Given the description of an element on the screen output the (x, y) to click on. 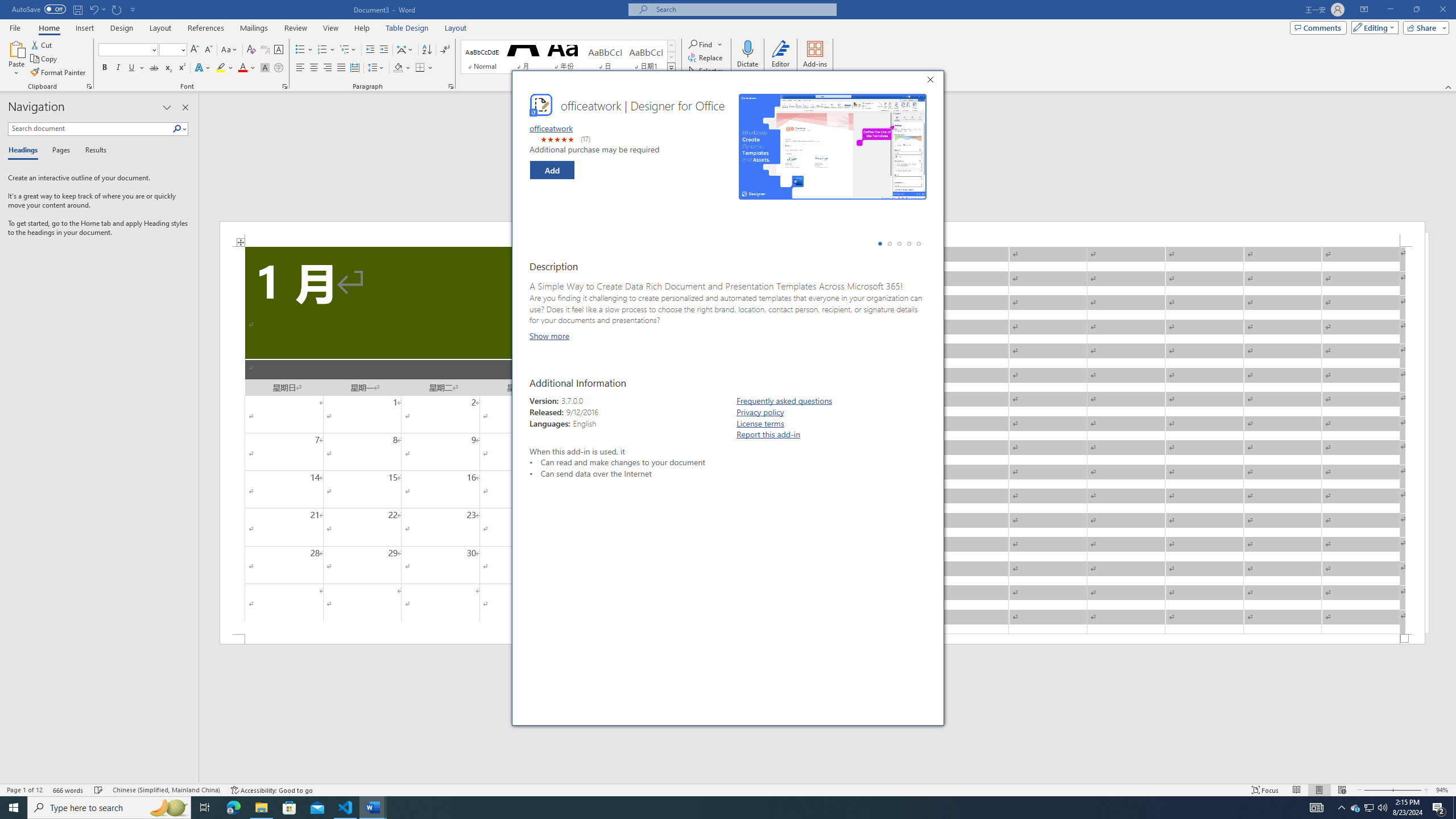
Add officeatwork | Designer for Office (552, 169)
